Given the description of an element on the screen output the (x, y) to click on. 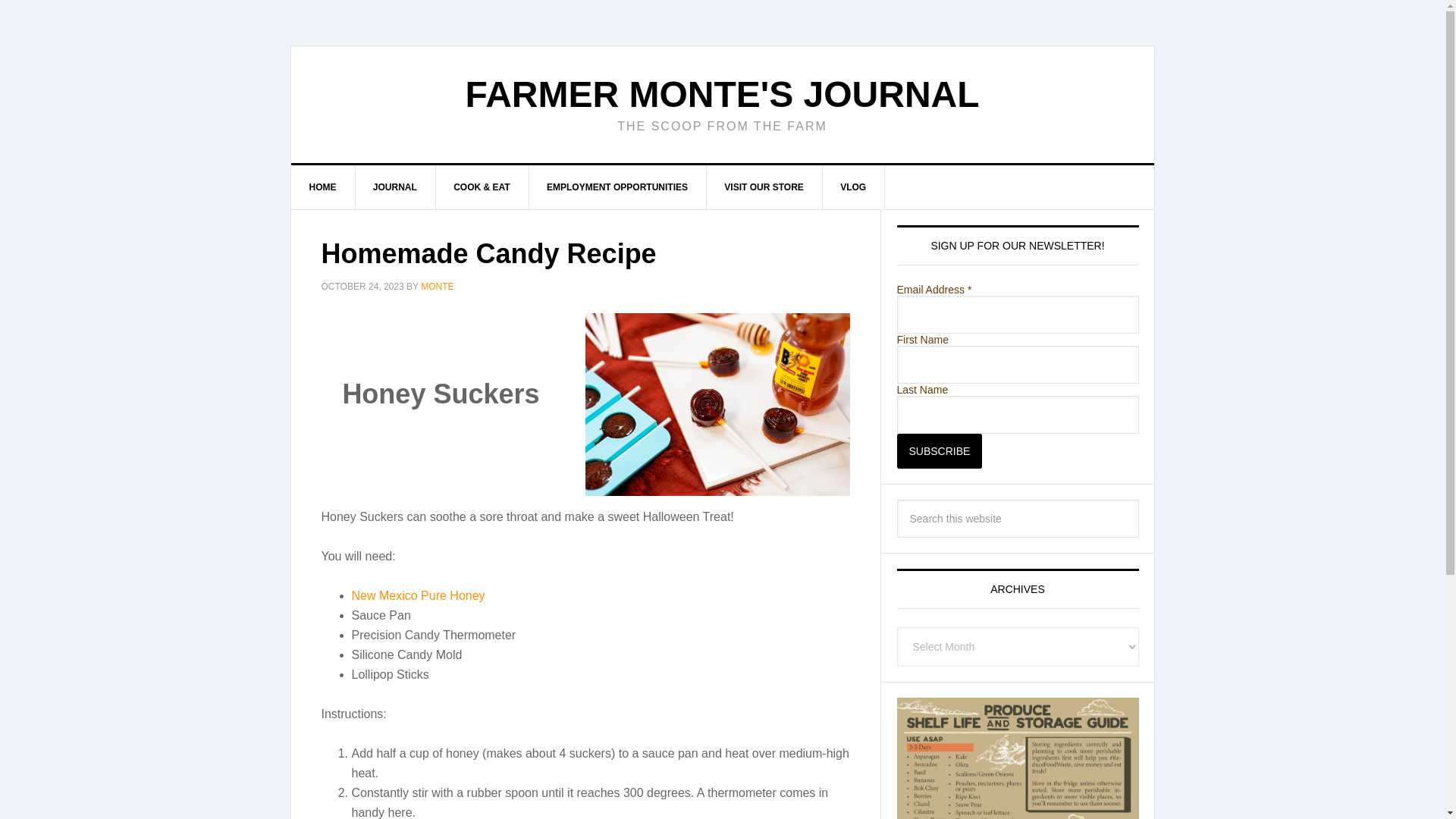
New Mexico Pure Honey (418, 594)
EMPLOYMENT OPPORTUNITIES (617, 187)
VISIT OUR STORE (764, 187)
VLOG (853, 187)
MONTE (436, 286)
Subscribe (938, 451)
Subscribe (938, 451)
JOURNAL (395, 187)
HOME (323, 187)
FARMER MONTE'S JOURNAL (721, 94)
